Given the description of an element on the screen output the (x, y) to click on. 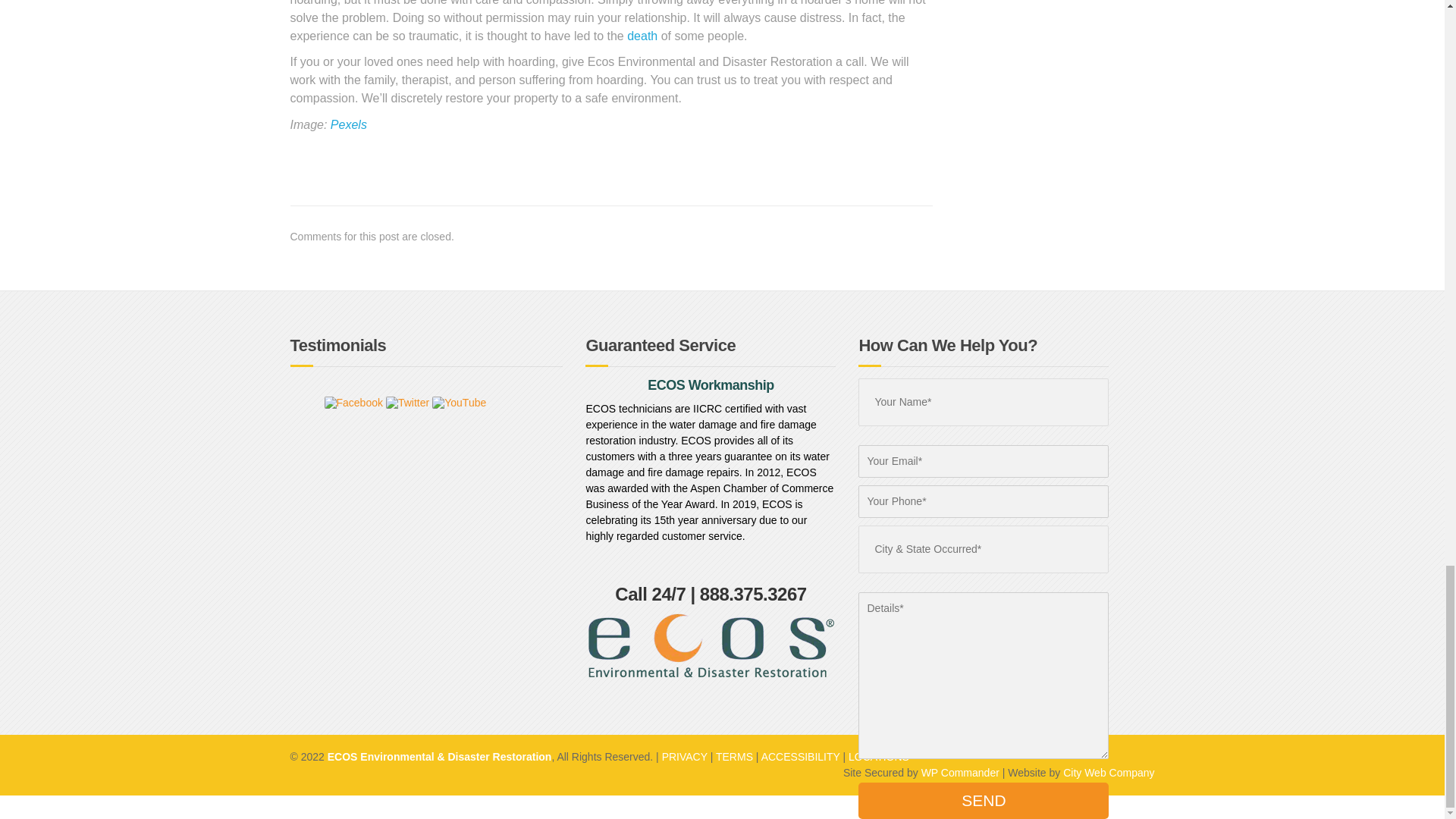
Twitter (407, 402)
Twitter (374, 401)
Facebook (319, 401)
Facebook (353, 402)
YouTube (425, 401)
